Given the description of an element on the screen output the (x, y) to click on. 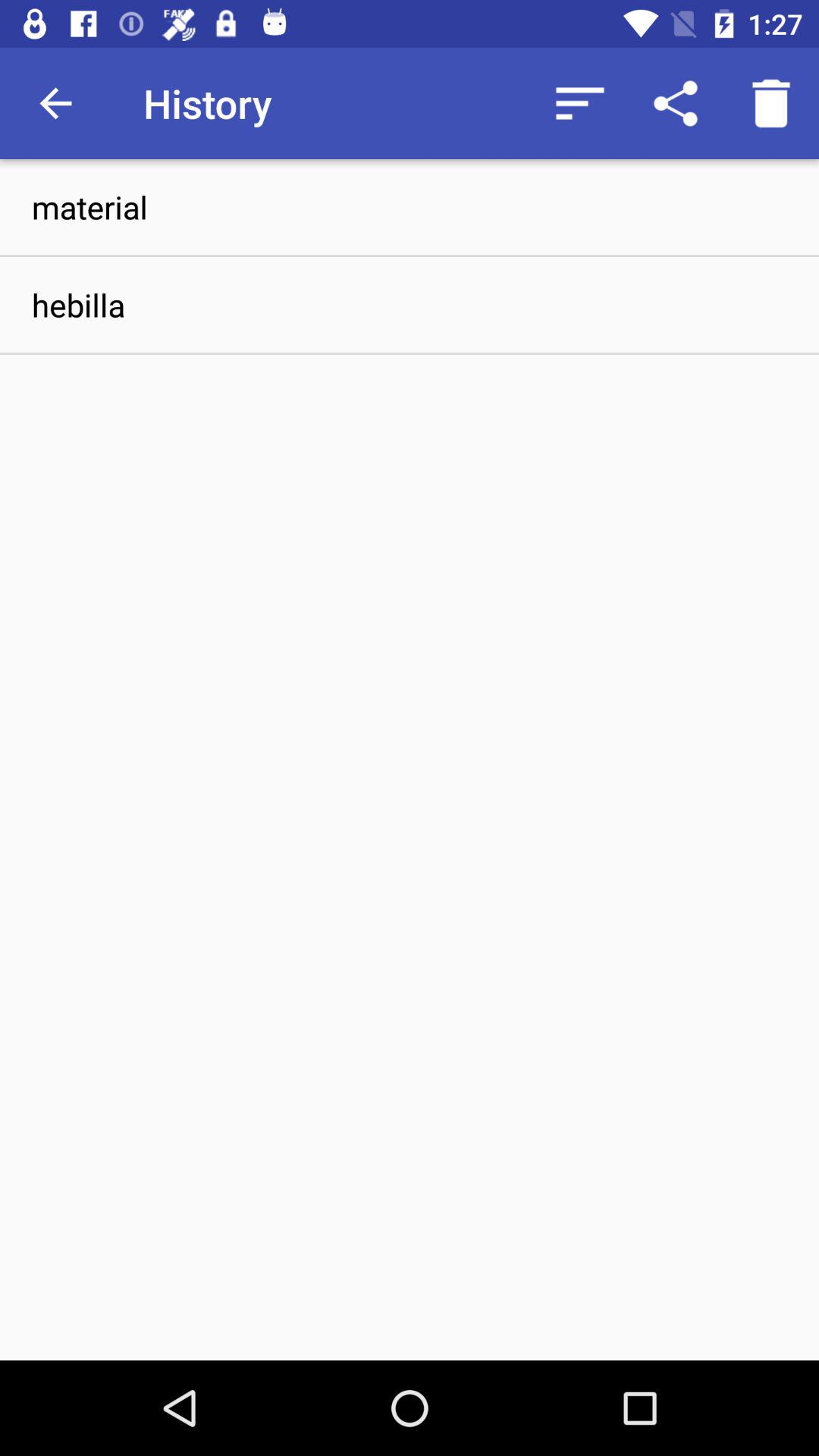
open icon above material (579, 103)
